Given the description of an element on the screen output the (x, y) to click on. 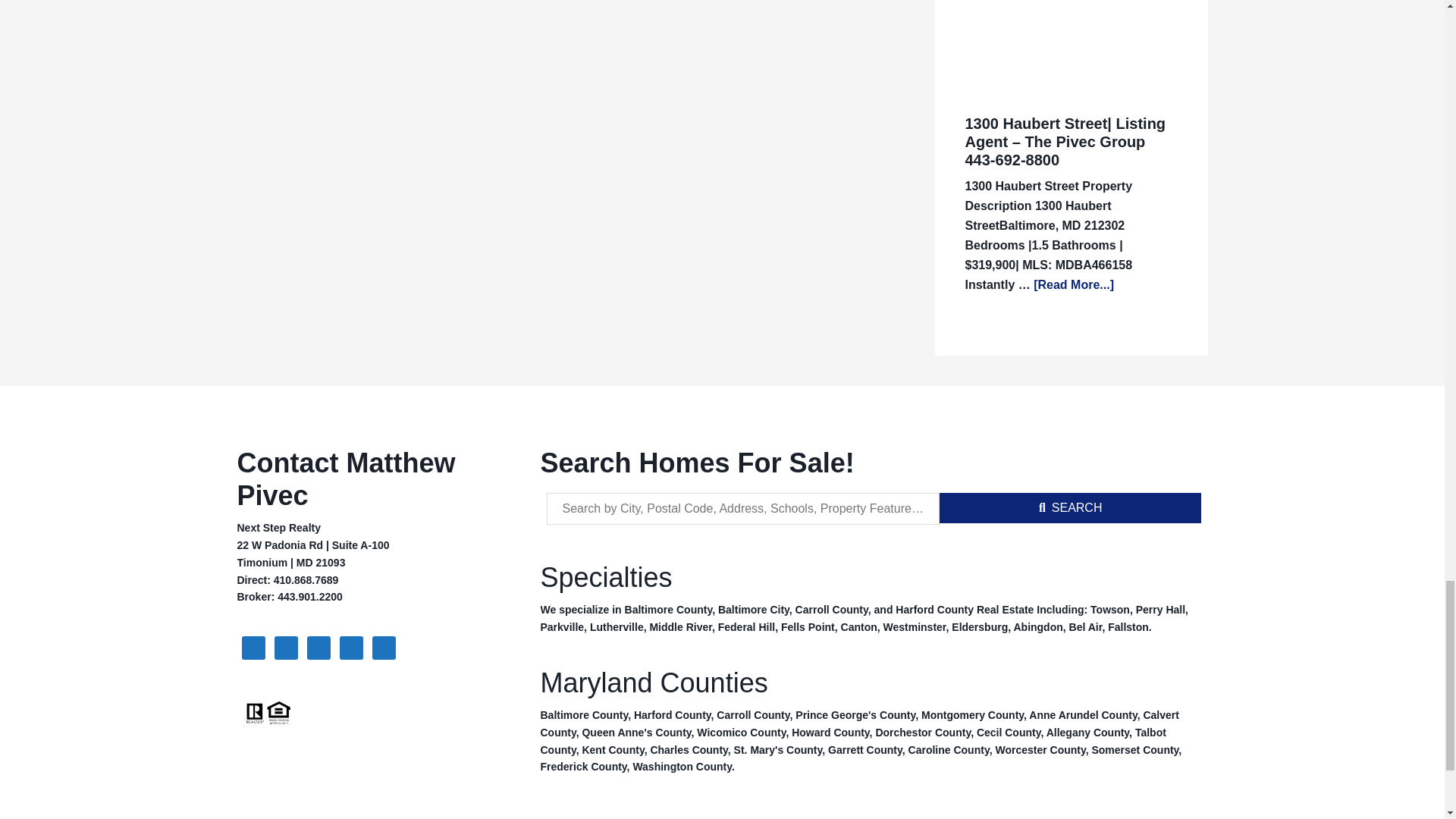
Perry Hall (1160, 609)
Westminster (914, 626)
Canton (859, 626)
Carroll County (830, 609)
Baltimore City (753, 609)
Harford County (934, 609)
Towson (1109, 609)
SEARCH (1070, 508)
Baltimore County (668, 609)
Abingdon (1037, 626)
